Given the description of an element on the screen output the (x, y) to click on. 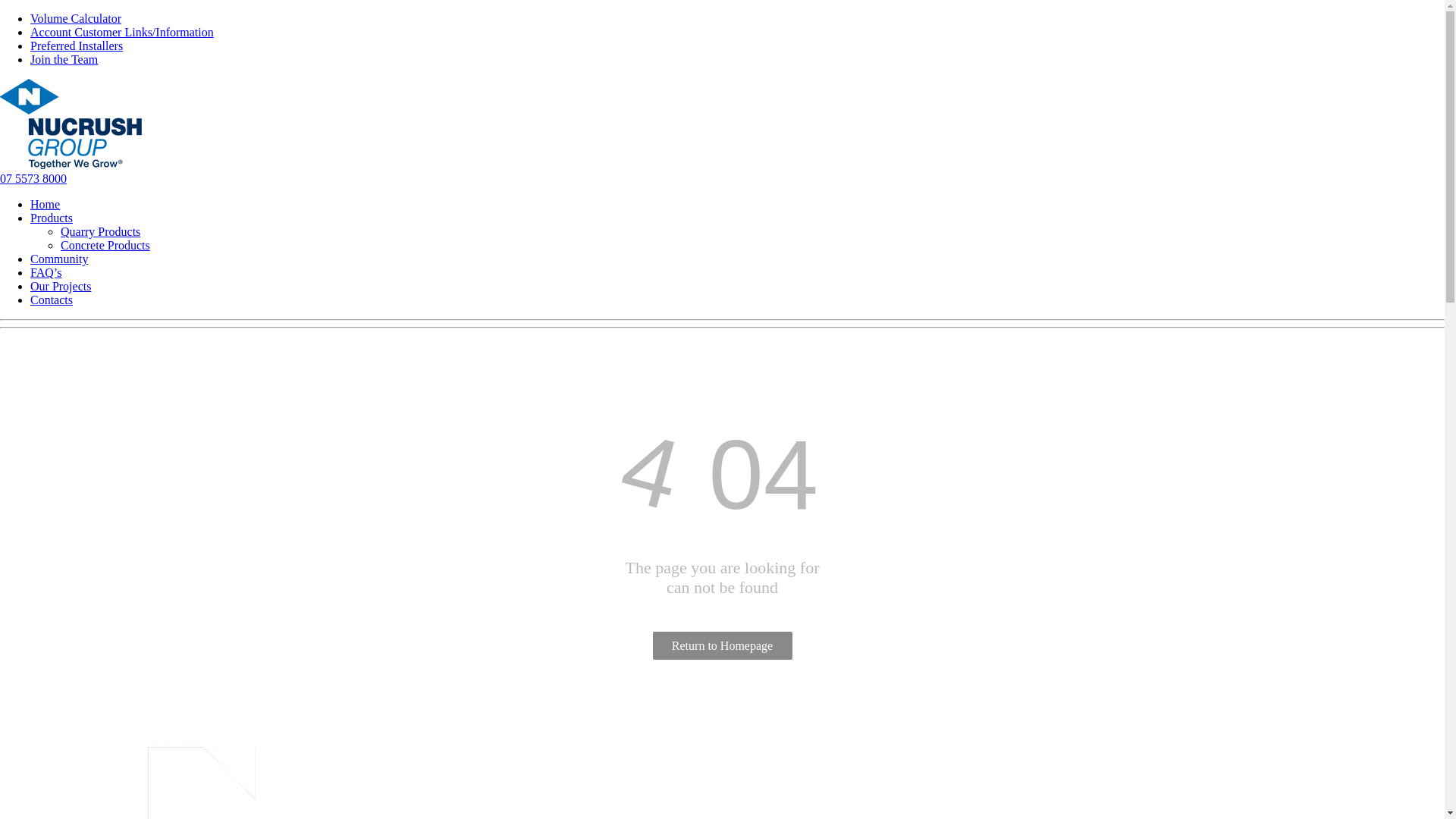
Account Customer Links/Information Element type: text (121, 31)
07 5573 8000 Element type: text (33, 178)
Volume Calculator Element type: text (75, 18)
Contacts Element type: text (51, 299)
Return to Homepage Element type: text (721, 645)
Concrete Products Element type: text (105, 244)
Our Projects Element type: text (60, 285)
Products Element type: text (51, 217)
Join the Team Element type: text (63, 59)
Preferred Installers Element type: text (76, 45)
Community Element type: text (58, 258)
Nucrush Pty Ltd Element type: hover (75, 123)
Quarry Products Element type: text (100, 231)
Home Element type: text (44, 203)
